Given the description of an element on the screen output the (x, y) to click on. 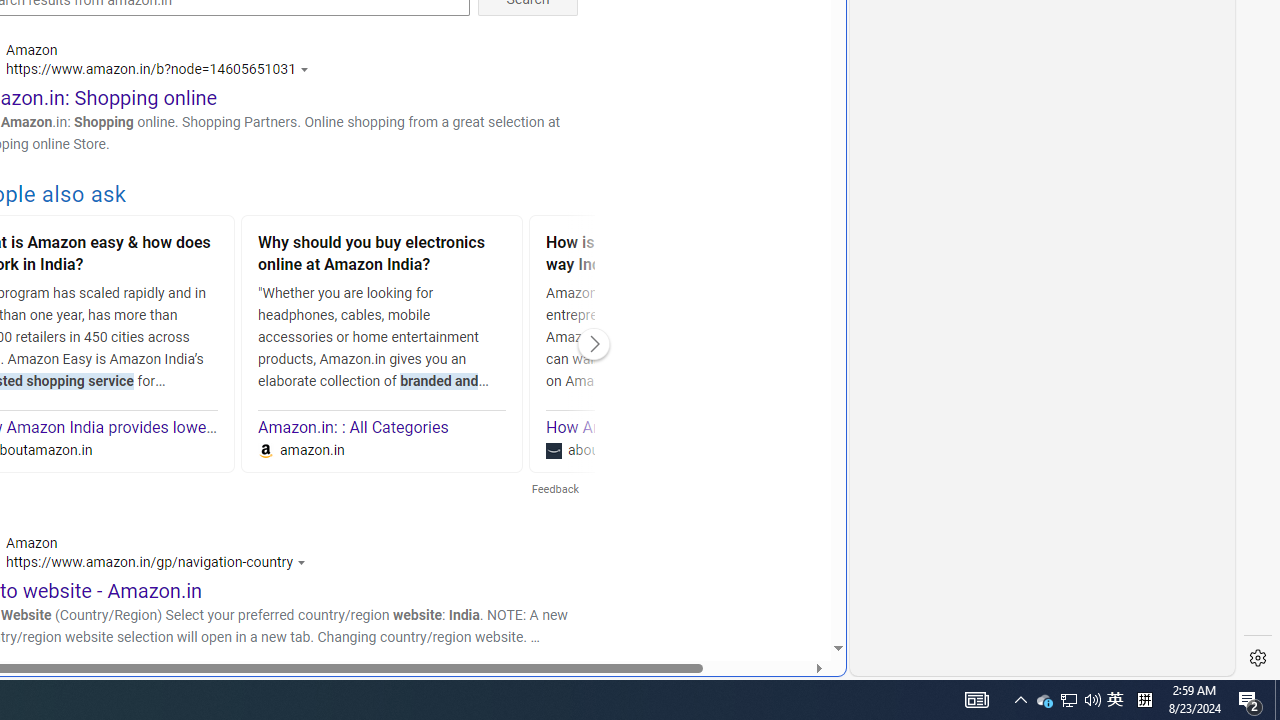
Why should you buy electronics online at Amazon India? (381, 255)
Click to scroll right (594, 344)
Search more (792, 588)
How is Amazon easy changing the way India buys? (669, 255)
AutomationID: mfa_root (762, 588)
Amazon.in: : All Categories (353, 427)
Actions for this site (305, 562)
